Given the description of an element on the screen output the (x, y) to click on. 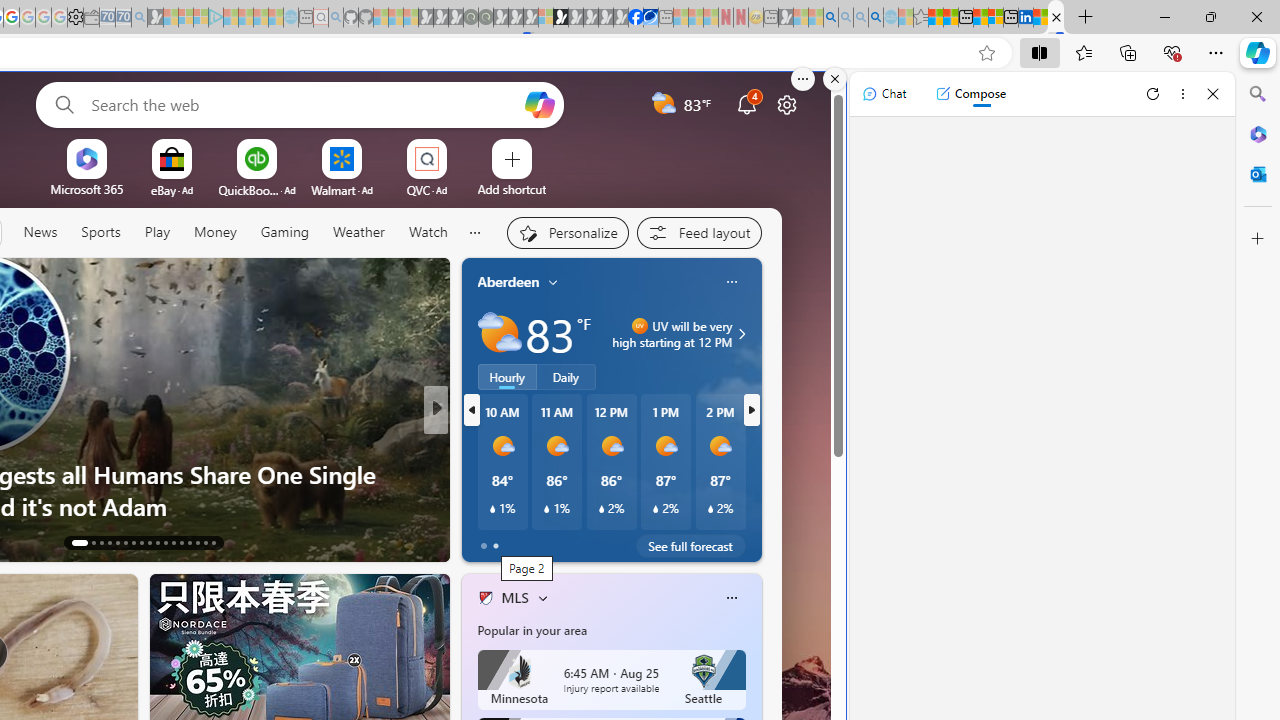
Sports (101, 233)
Nordace | Facebook (635, 17)
39 Like (487, 541)
AutomationID: tab-17 (116, 542)
AutomationID: tab-27 (197, 542)
Partly sunny (499, 333)
AutomationID: tab-24 (172, 542)
How to Turn Off Copilot in Windows 11 (758, 506)
Sign in to your account - Sleeping (545, 17)
Home | Sky Blue Bikes - Sky Blue Bikes - Sleeping (291, 17)
Gaming (285, 233)
